Given the description of an element on the screen output the (x, y) to click on. 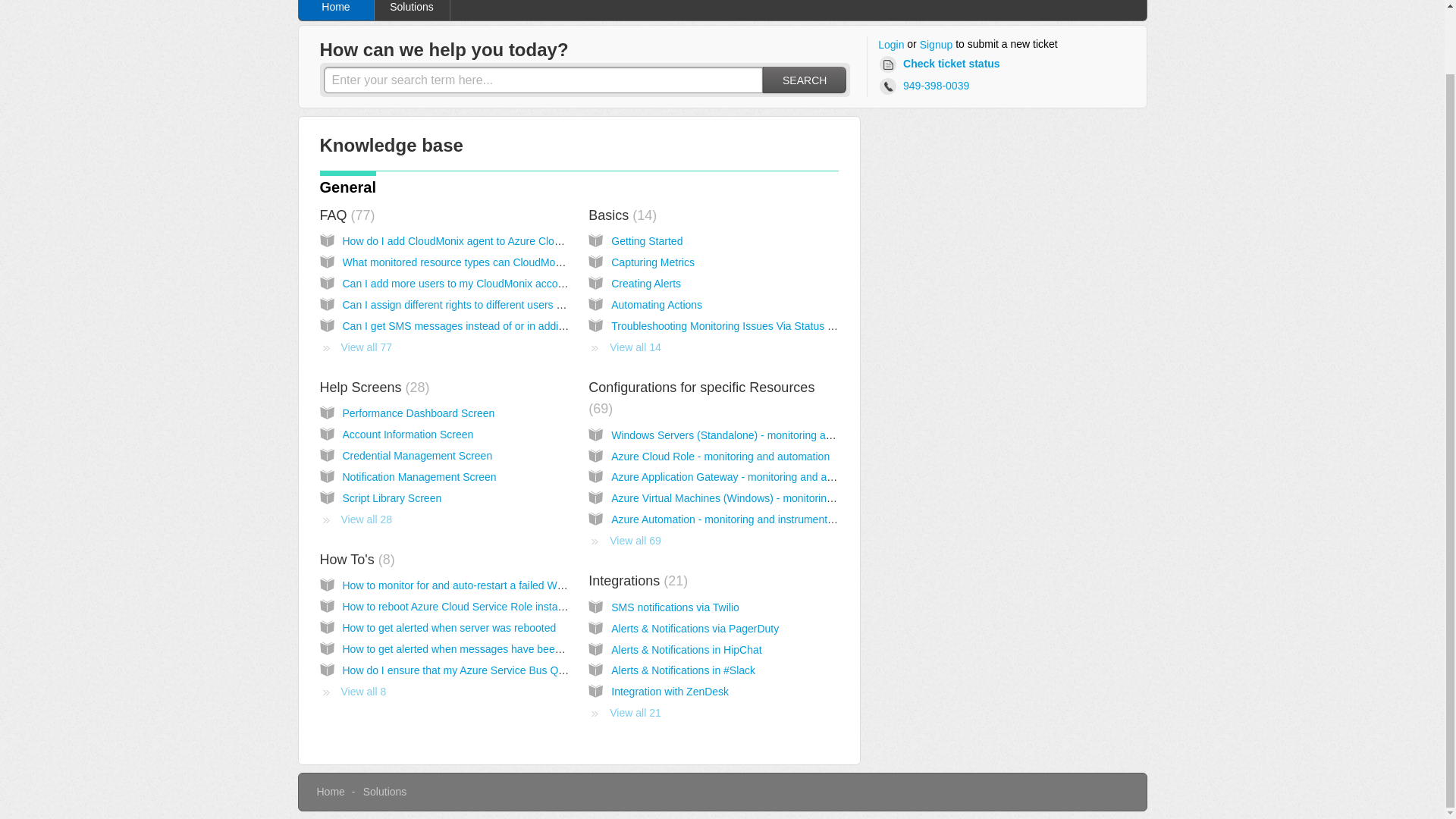
Azure Automation - monitoring and instrumenting (726, 519)
Configurations for specific Resources 69 (700, 398)
Signup (936, 45)
Help Screens (374, 387)
Account Information Screen (408, 434)
Script Library Screen (392, 498)
Login (890, 45)
Configurations for specific Resources (700, 398)
Help Screens 28 (374, 387)
Performance Dashboard Screen (418, 413)
FAQ 77 (347, 215)
View all 14 (624, 346)
Check ticket status (941, 64)
